Given the description of an element on the screen output the (x, y) to click on. 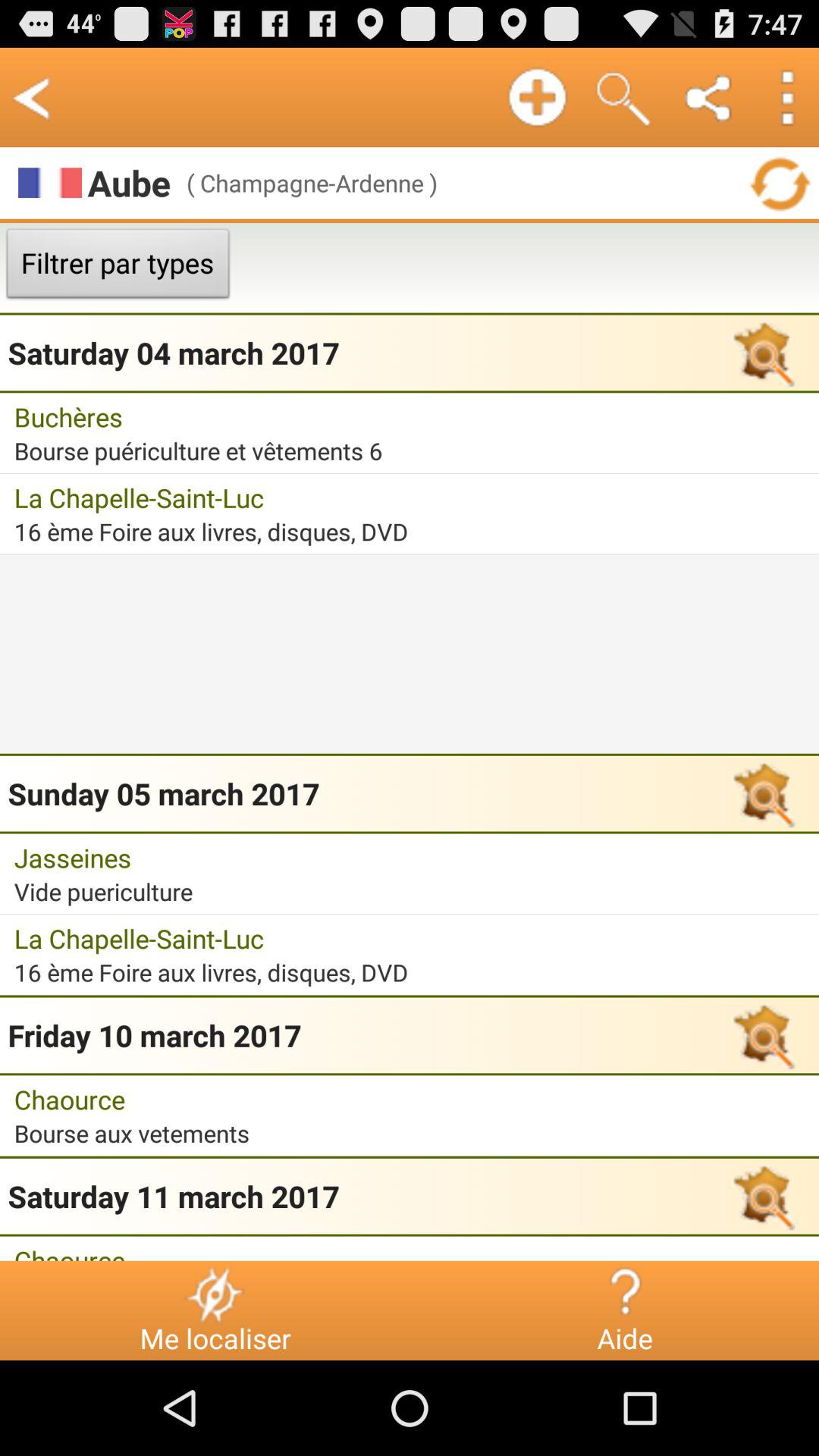
select filtrer par types app (118, 267)
